Given the description of an element on the screen output the (x, y) to click on. 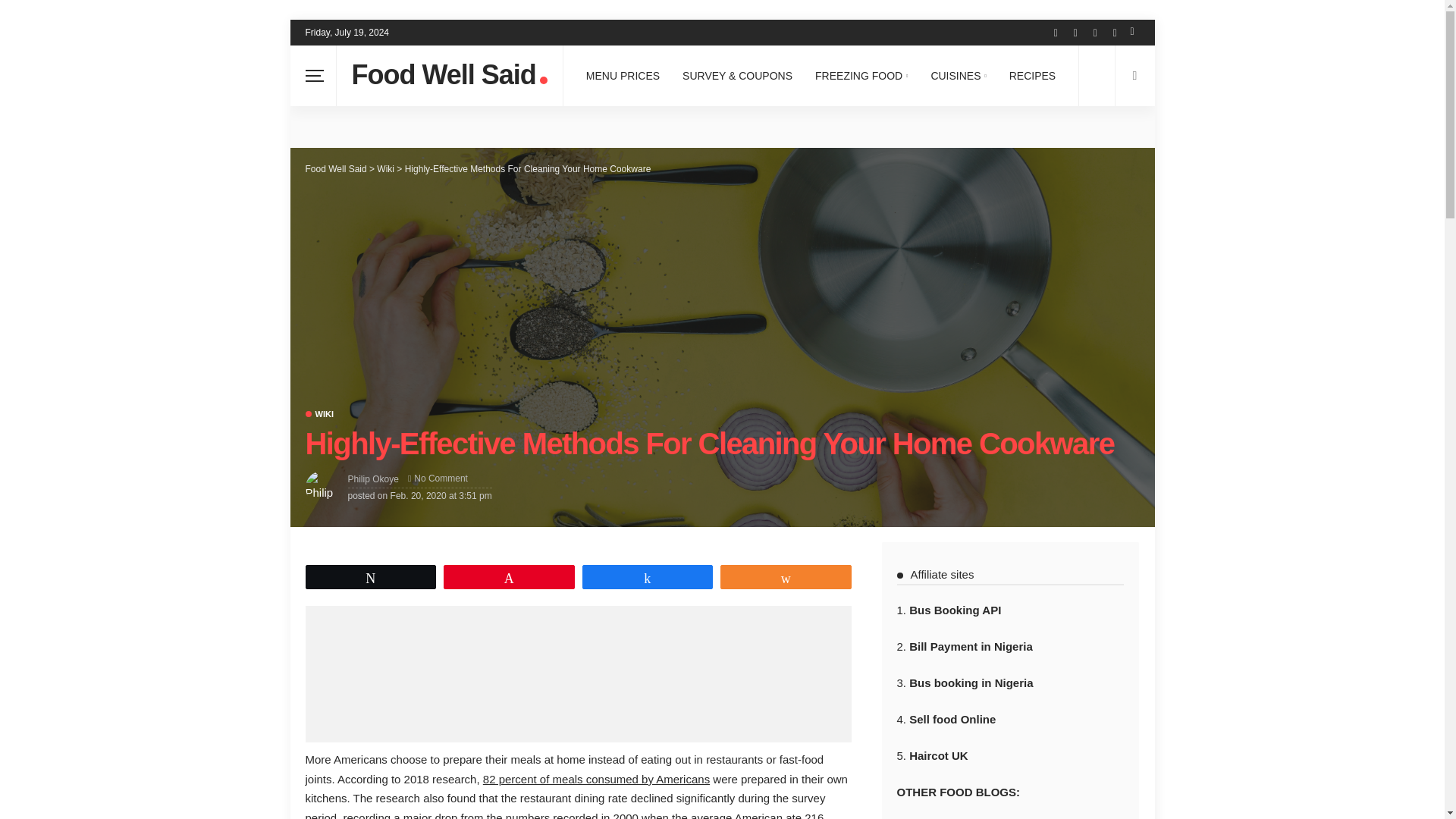
Go to the Wiki Category archives. (385, 168)
Food Well Said (335, 168)
Wiki (318, 414)
Wiki (385, 168)
FREEZING FOOD (860, 75)
RECIPES (1032, 75)
Advertisement (577, 674)
RECIPES (1032, 75)
CUISINES (957, 75)
Go to Food Well Said. (335, 168)
MENU PRICES (623, 75)
Food Well Said (449, 75)
Highly-Effective Methods For Cleaning Your Home Cookware (440, 478)
